Given the description of an element on the screen output the (x, y) to click on. 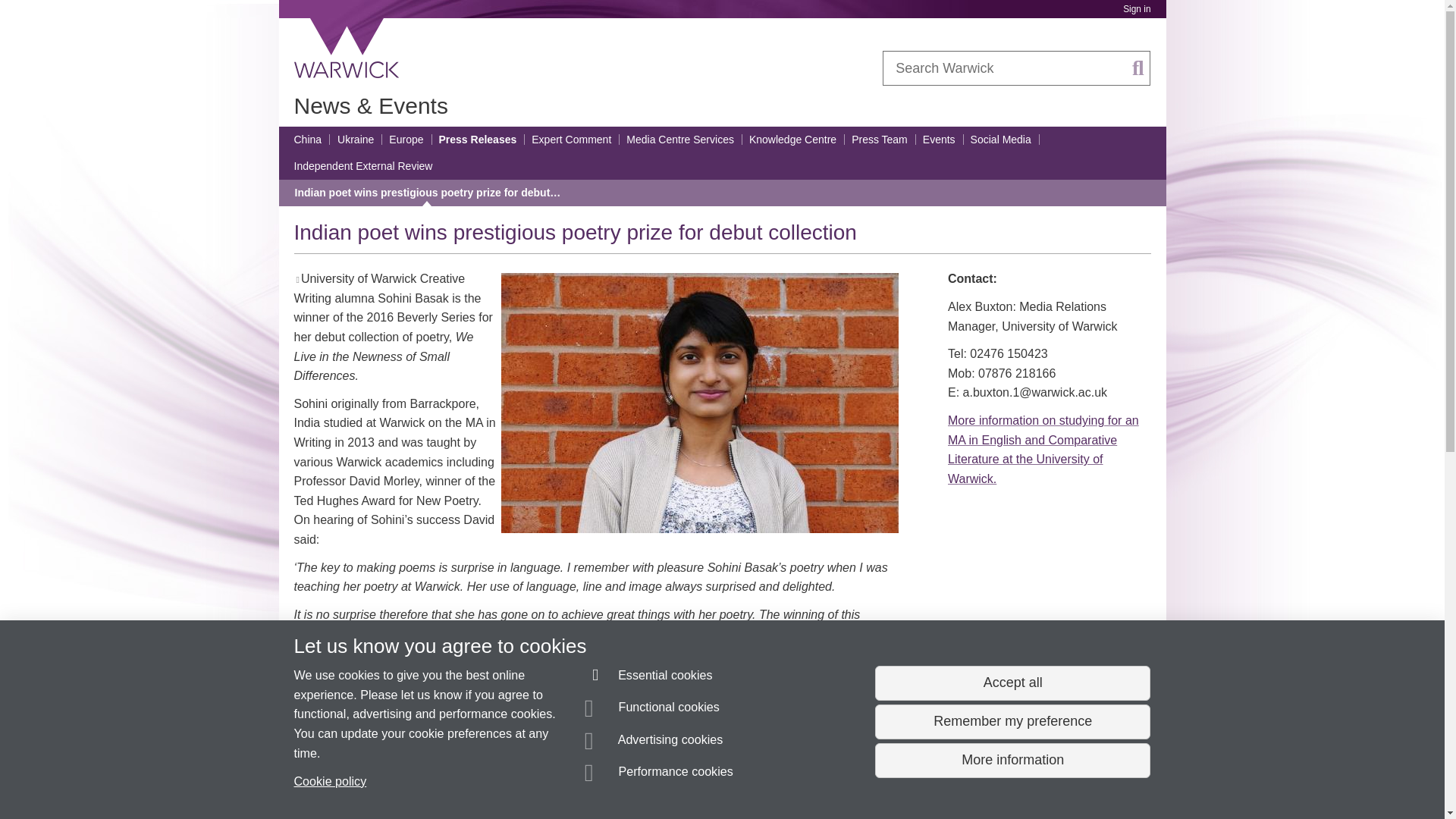
Ukraine (355, 139)
Europe (405, 139)
Essential cookies are always on (649, 677)
China (307, 139)
Social Media (1000, 139)
Sign in (1136, 9)
Press Team (879, 139)
Events (939, 139)
Knowledge Centre (792, 139)
Media Centre Services (679, 139)
Expert Comment (571, 139)
